Given the description of an element on the screen output the (x, y) to click on. 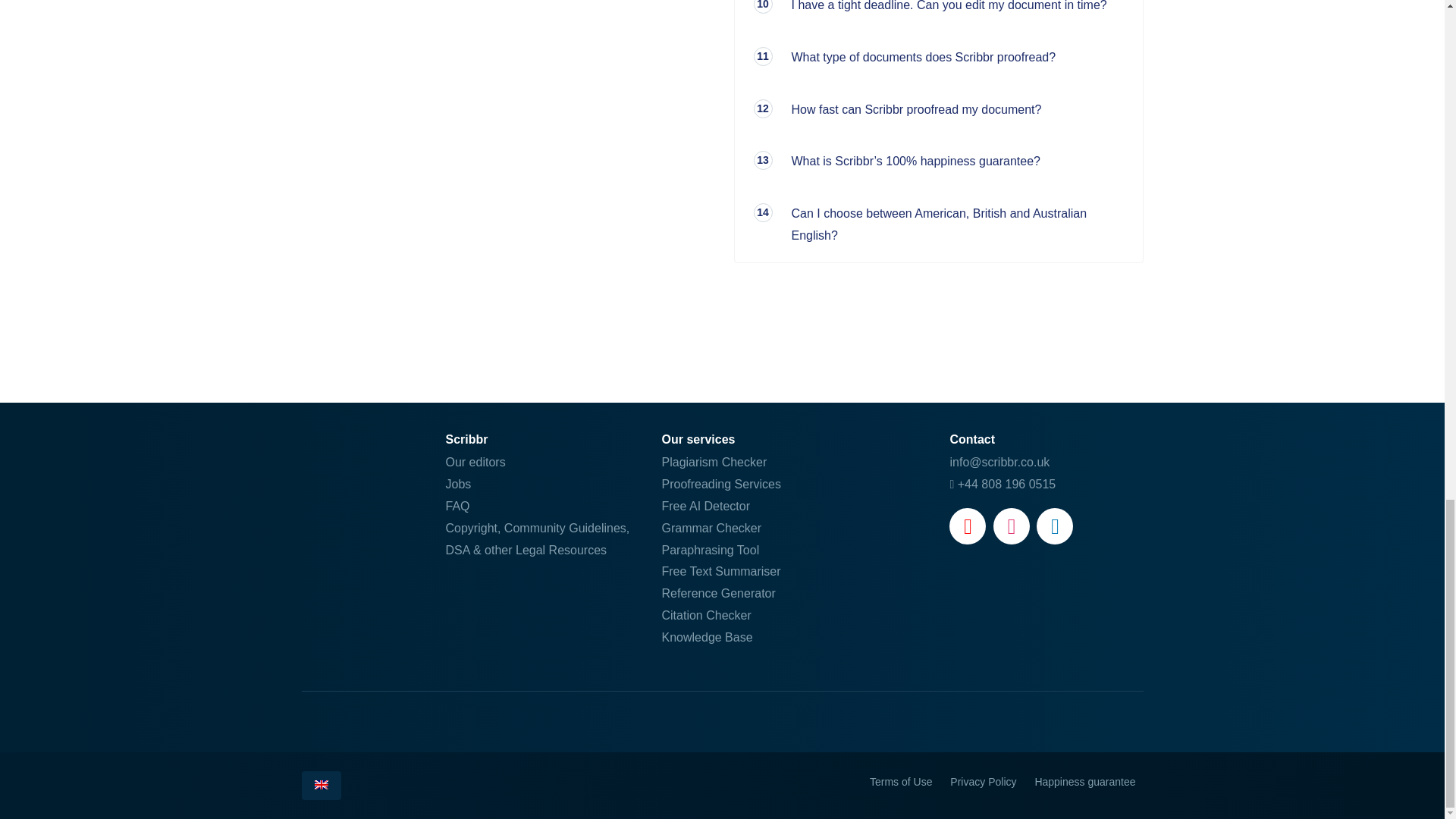
LinkedIn (1054, 525)
Change language (320, 785)
Customer reviews powered by Trustpilot (721, 721)
